Given the description of an element on the screen output the (x, y) to click on. 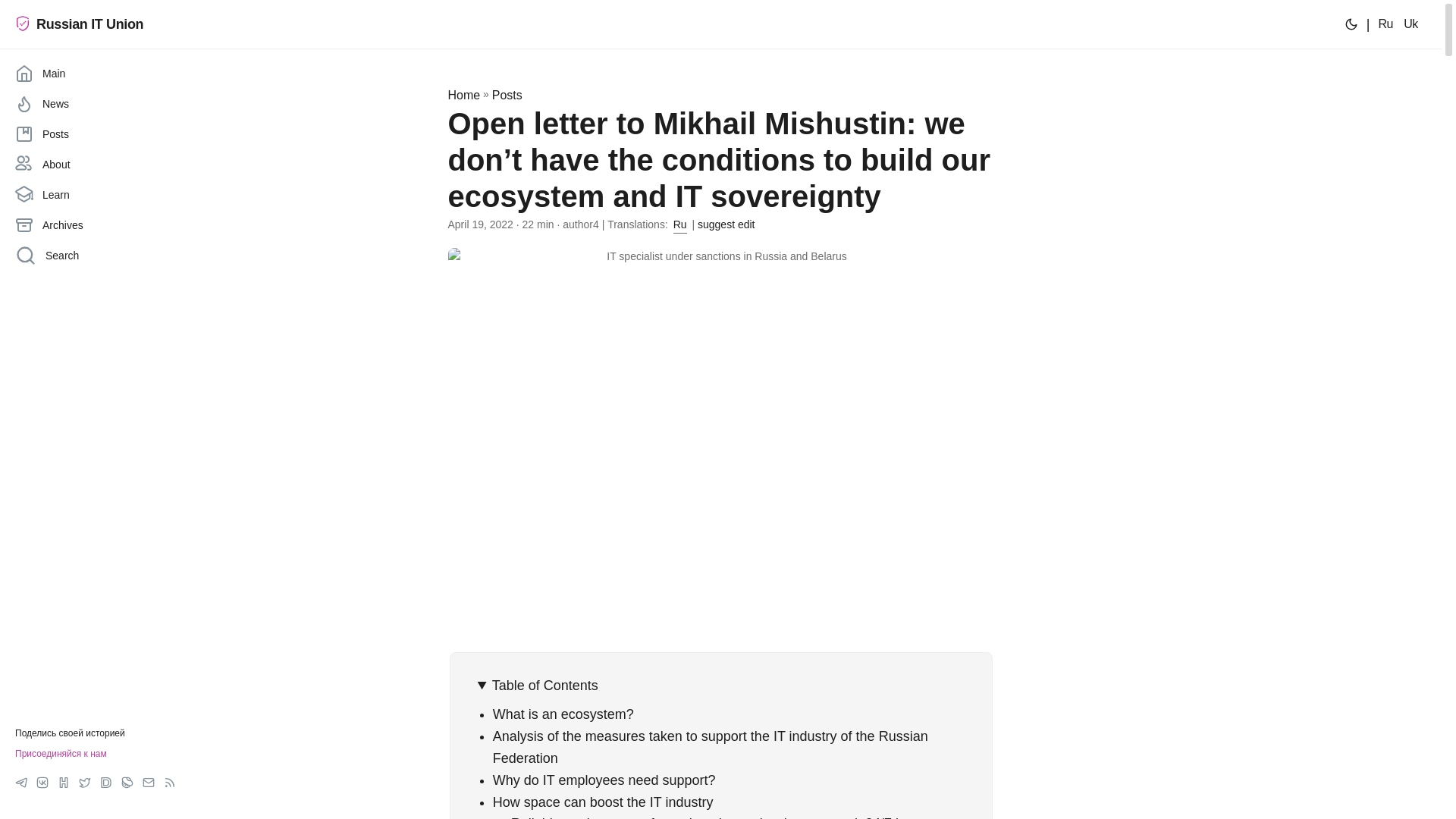
Archives (95, 224)
Twitter (84, 782)
suggest edit (726, 224)
Archives (95, 224)
Posts (95, 133)
Vkontakte (42, 782)
Learn (95, 194)
News (95, 103)
Main (95, 73)
Why do IT employees need support? (604, 780)
Ru (679, 224)
Uk (1410, 24)
Learn (95, 194)
How space can boost the IT industry (603, 801)
